Given the description of an element on the screen output the (x, y) to click on. 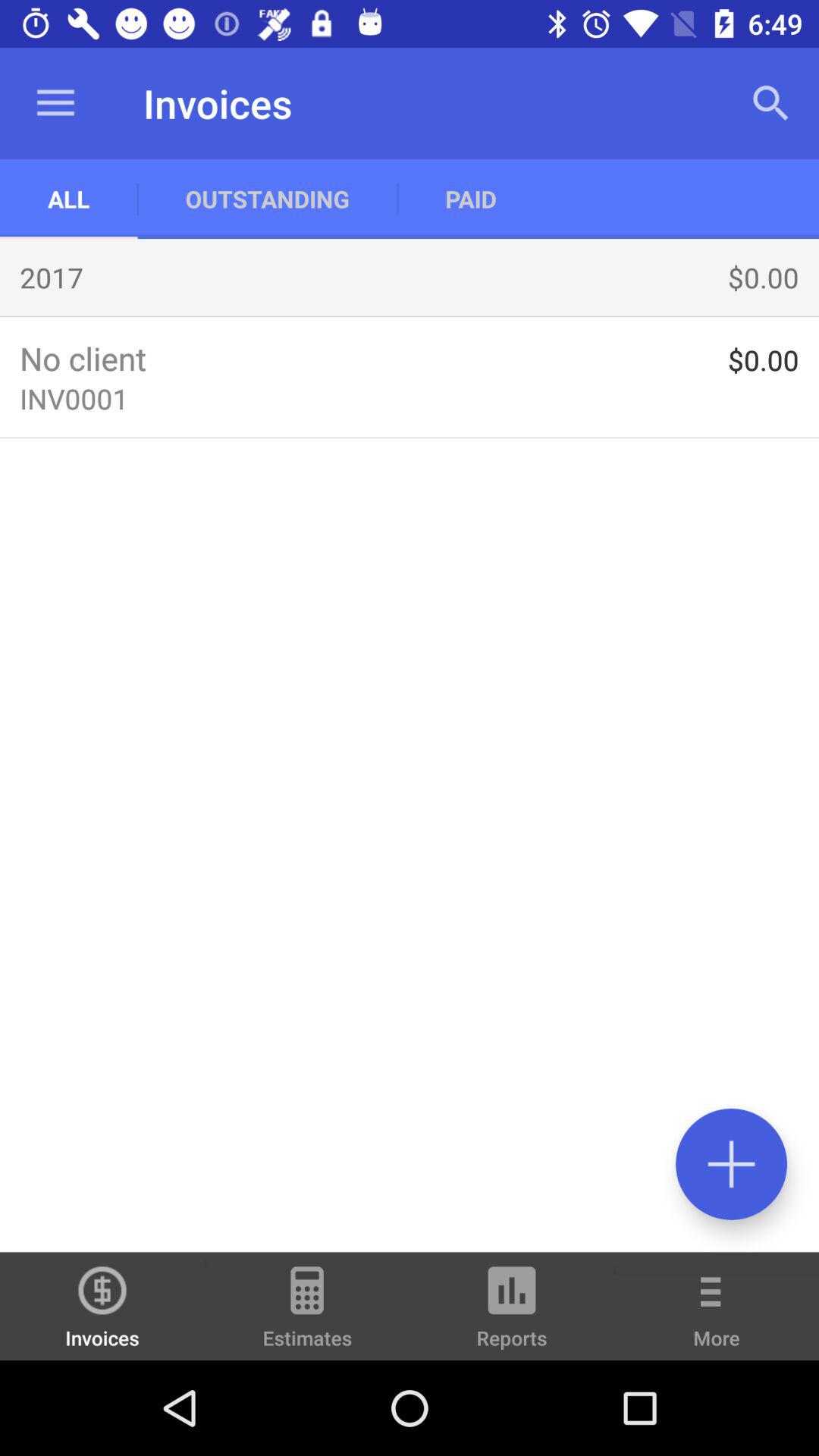
add new invoice (731, 1163)
